Given the description of an element on the screen output the (x, y) to click on. 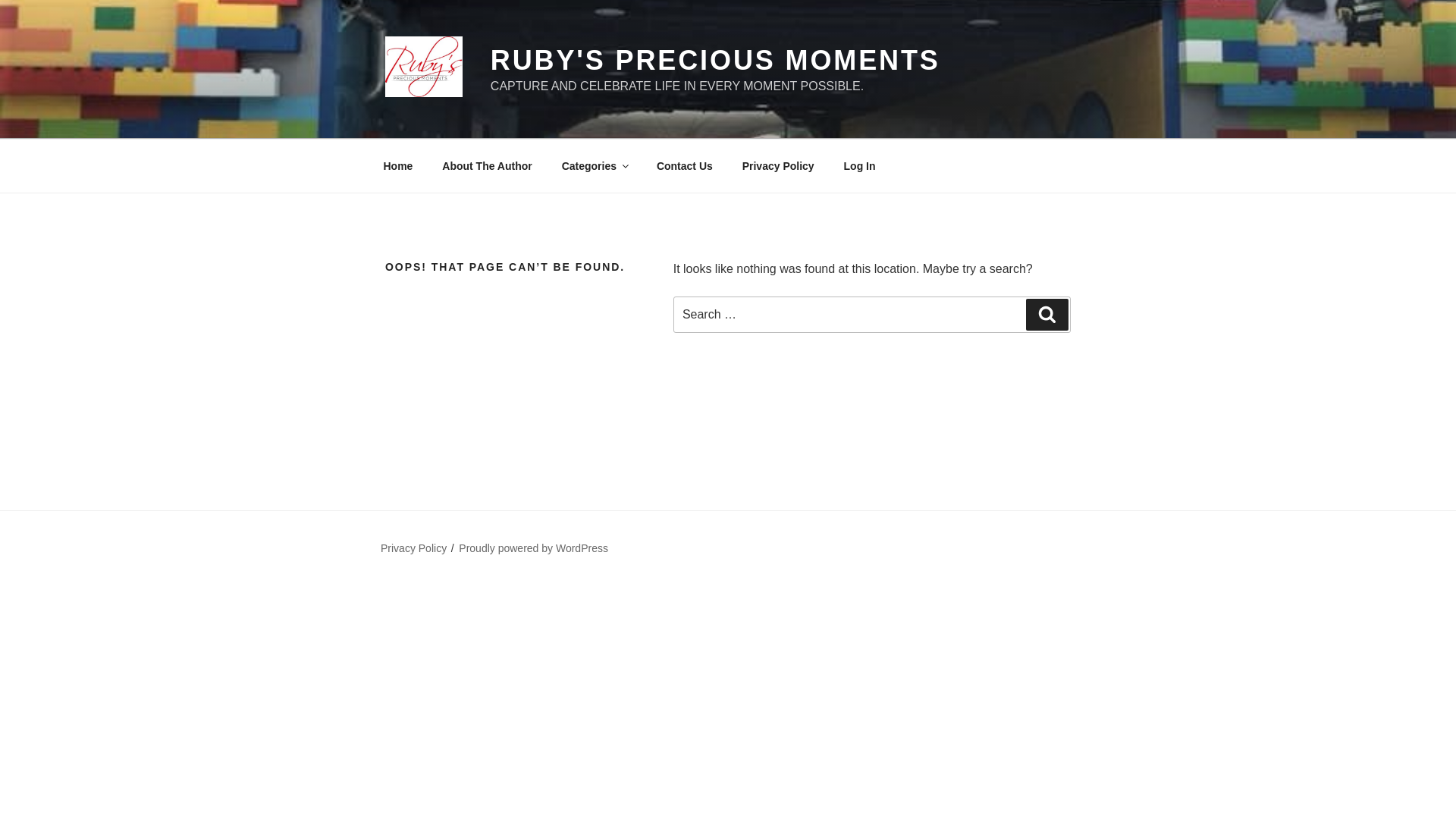
Categories (594, 165)
Contact Us (684, 165)
Privacy Policy (778, 165)
Search (1047, 314)
Log In (858, 165)
About The Author (486, 165)
Privacy Policy (413, 548)
Home (397, 165)
Proudly powered by WordPress (533, 548)
RUBY'S PRECIOUS MOMENTS (715, 60)
